Given the description of an element on the screen output the (x, y) to click on. 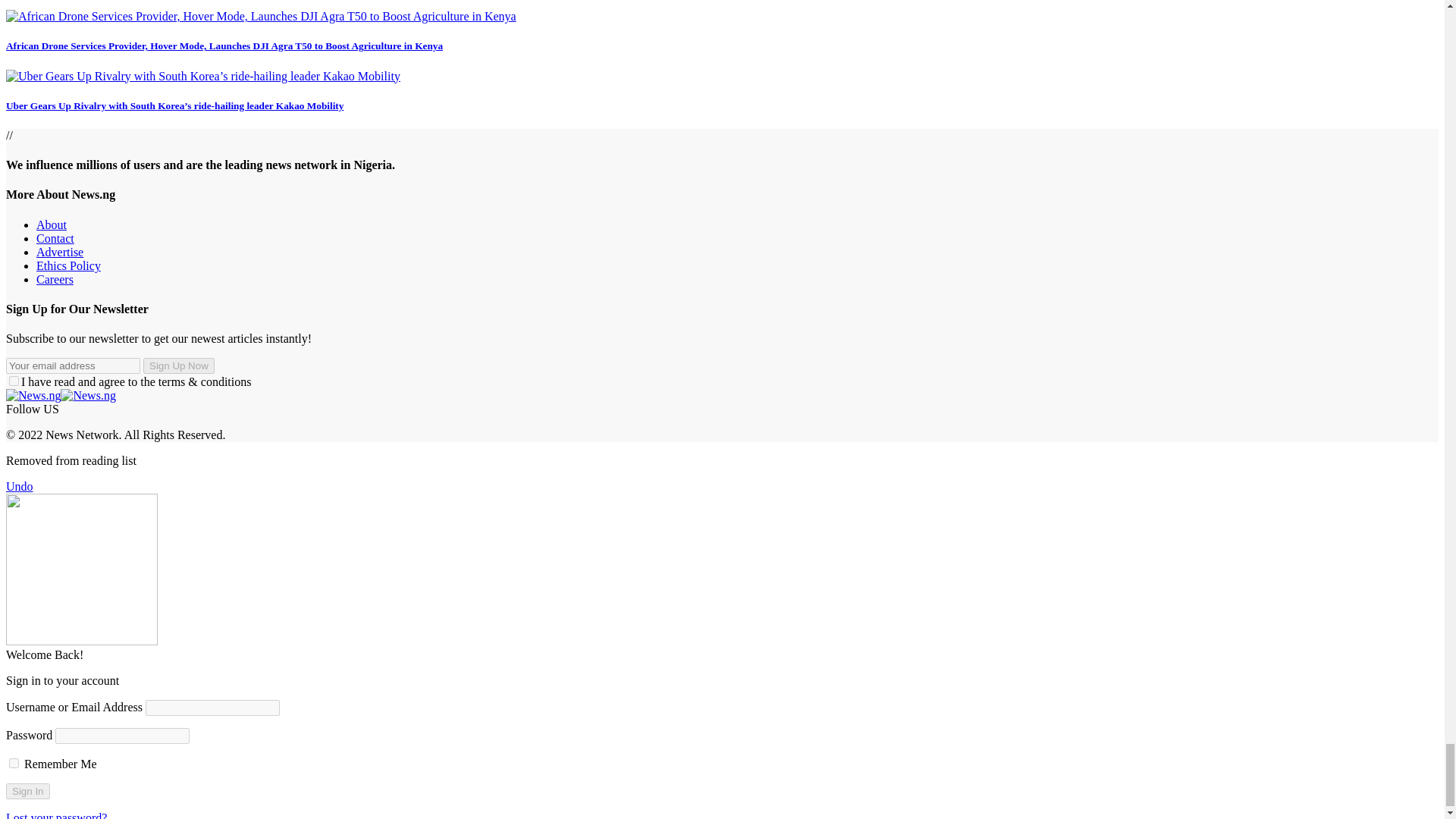
Sign In (27, 790)
News.ng (60, 395)
forever (13, 763)
Sign Up Now (178, 365)
1 (13, 380)
